Given the description of an element on the screen output the (x, y) to click on. 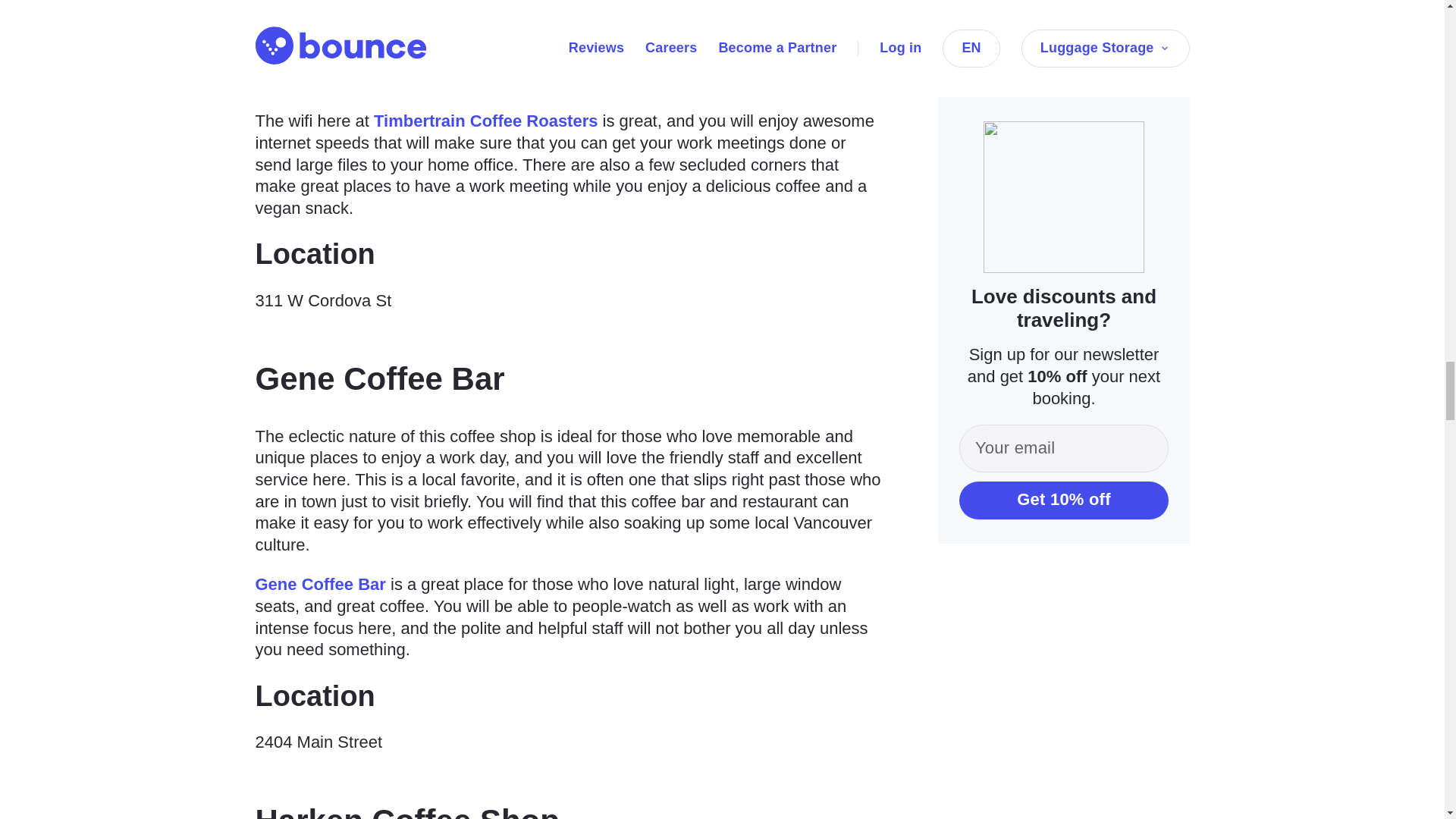
Gene Coffee Bar (319, 583)
Timbertrain Coffee Roasters (485, 120)
